Given the description of an element on the screen output the (x, y) to click on. 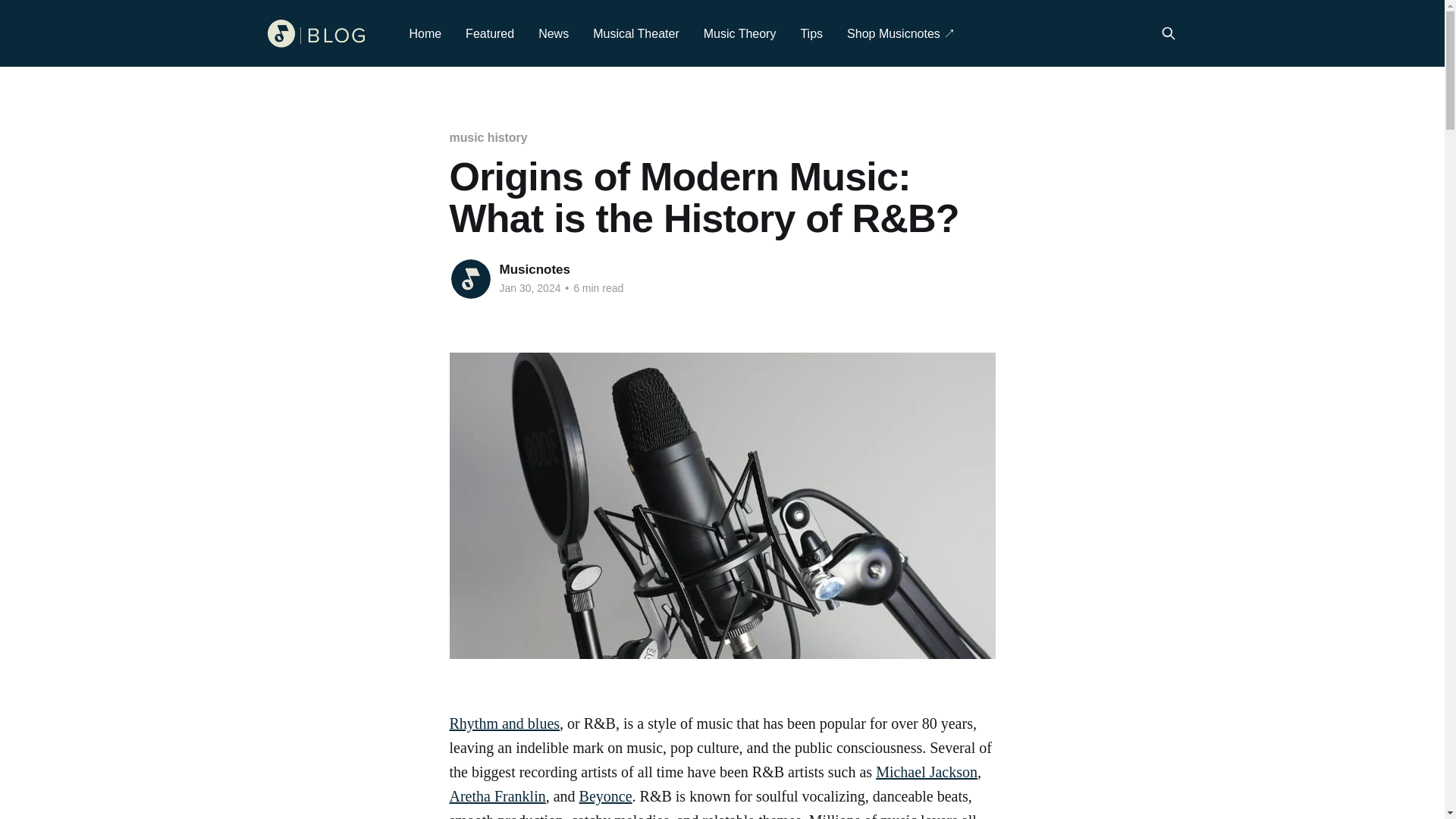
Featured (489, 33)
Beyonce (605, 795)
Rhythm and blues (503, 723)
Aretha Franklin (496, 795)
News (553, 33)
Musicnotes (534, 269)
Musical Theater (635, 33)
Michael Jackson (926, 771)
Home (425, 33)
Tips (810, 33)
